Given the description of an element on the screen output the (x, y) to click on. 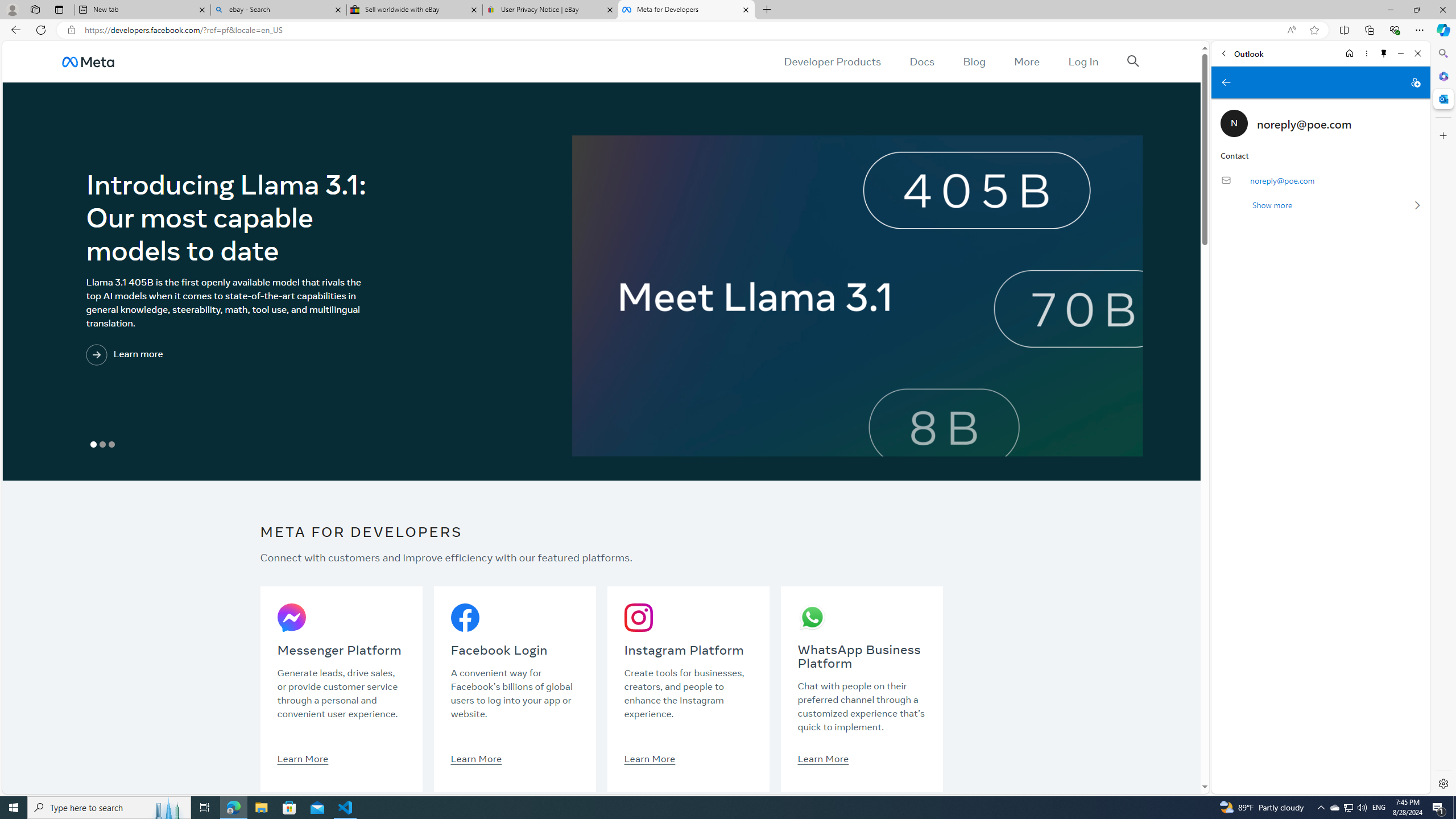
Customize (1442, 135)
Show more (1320, 205)
Outlook (1442, 98)
User Privacy Notice | eBay (550, 9)
Side bar (1443, 418)
